Given the description of an element on the screen output the (x, y) to click on. 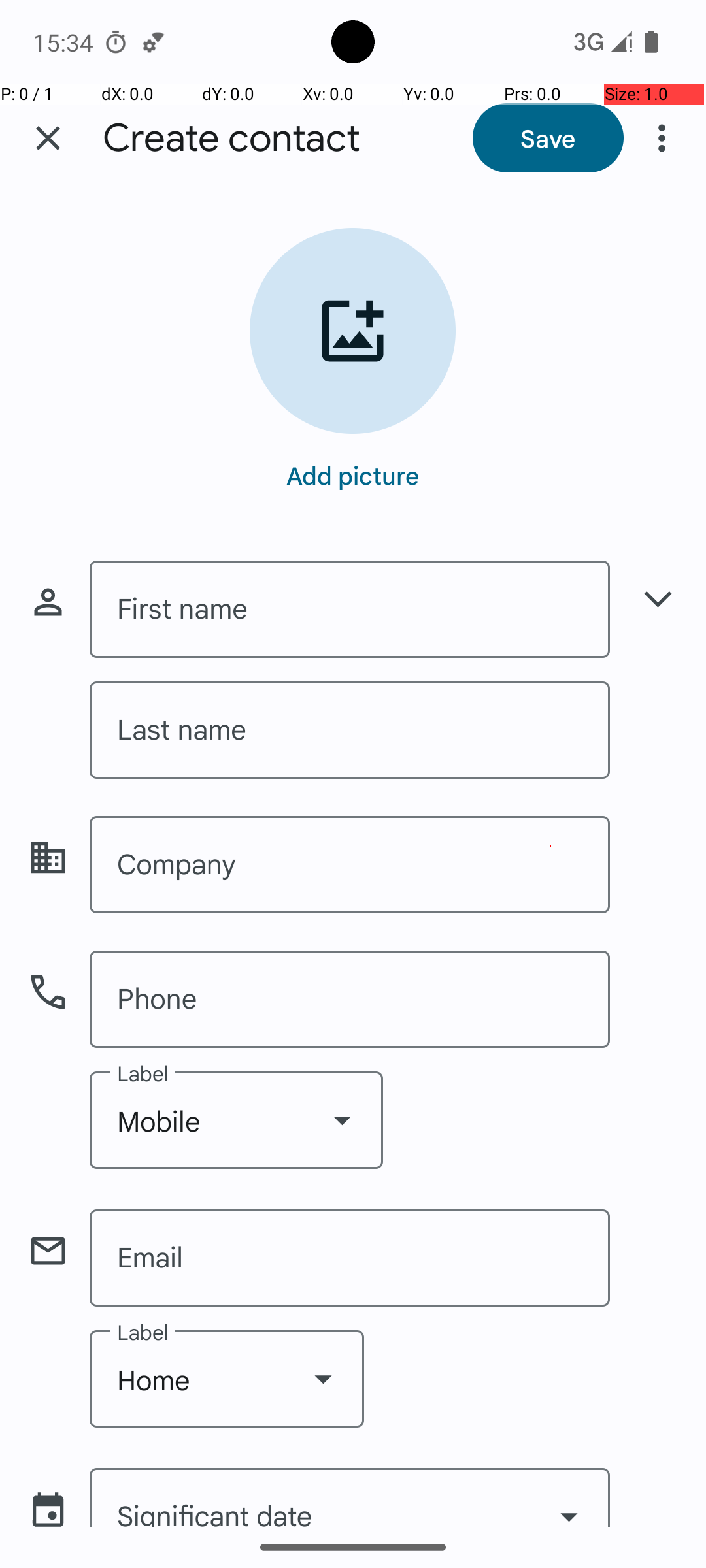
Add picture Element type: android.widget.Button (352, 474)
Significant date Element type: android.widget.EditText (349, 1497)
Show date picker Element type: android.widget.ImageButton (568, 1500)
